Given the description of an element on the screen output the (x, y) to click on. 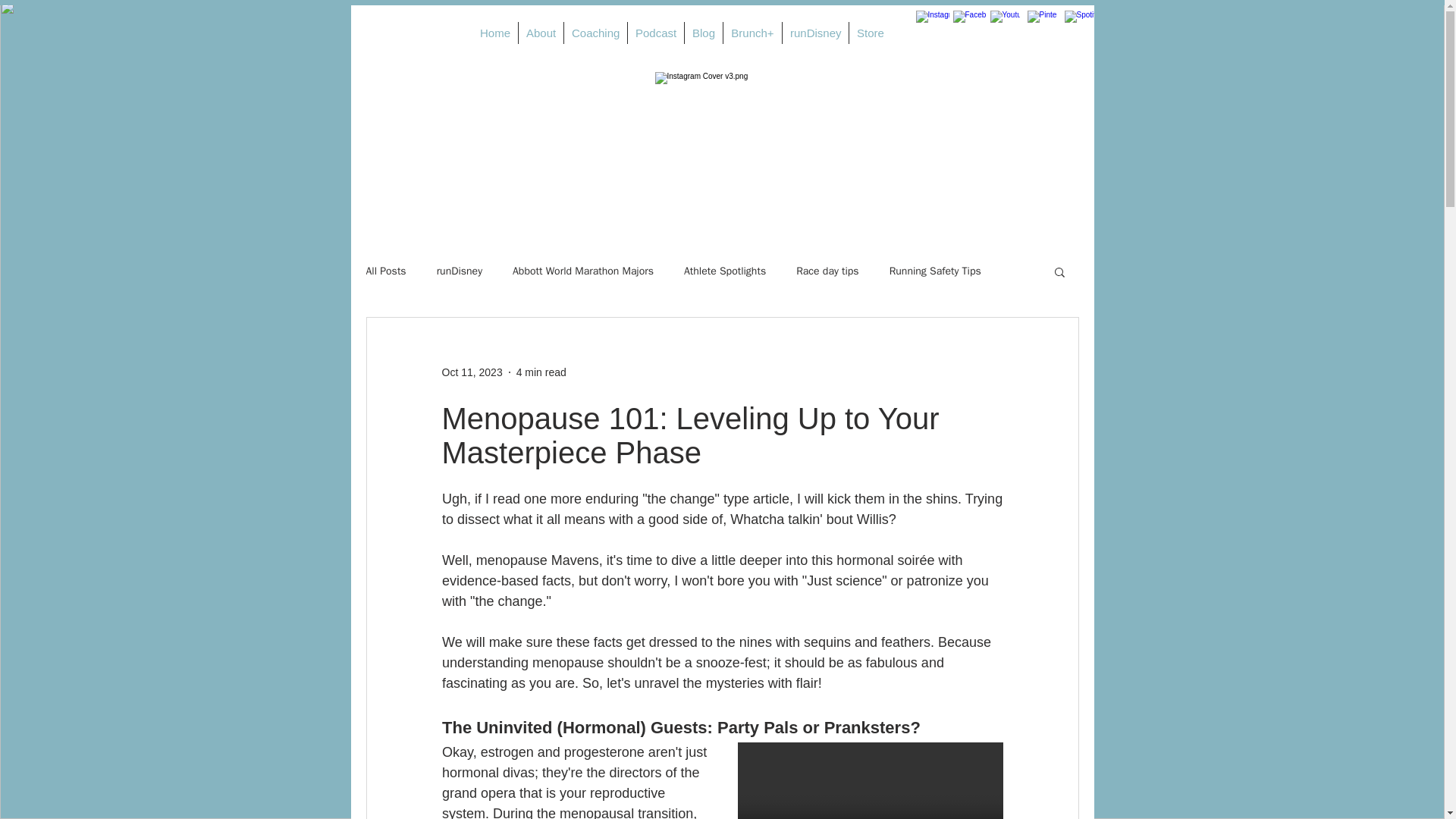
Race day tips (827, 271)
All Posts (385, 271)
Store (868, 33)
Athlete Spotlights (724, 271)
4 min read (541, 371)
Abbott World Marathon Majors (582, 271)
Coaching (595, 33)
runDisney (815, 33)
Home (494, 33)
runDisney (458, 271)
